Given the description of an element on the screen output the (x, y) to click on. 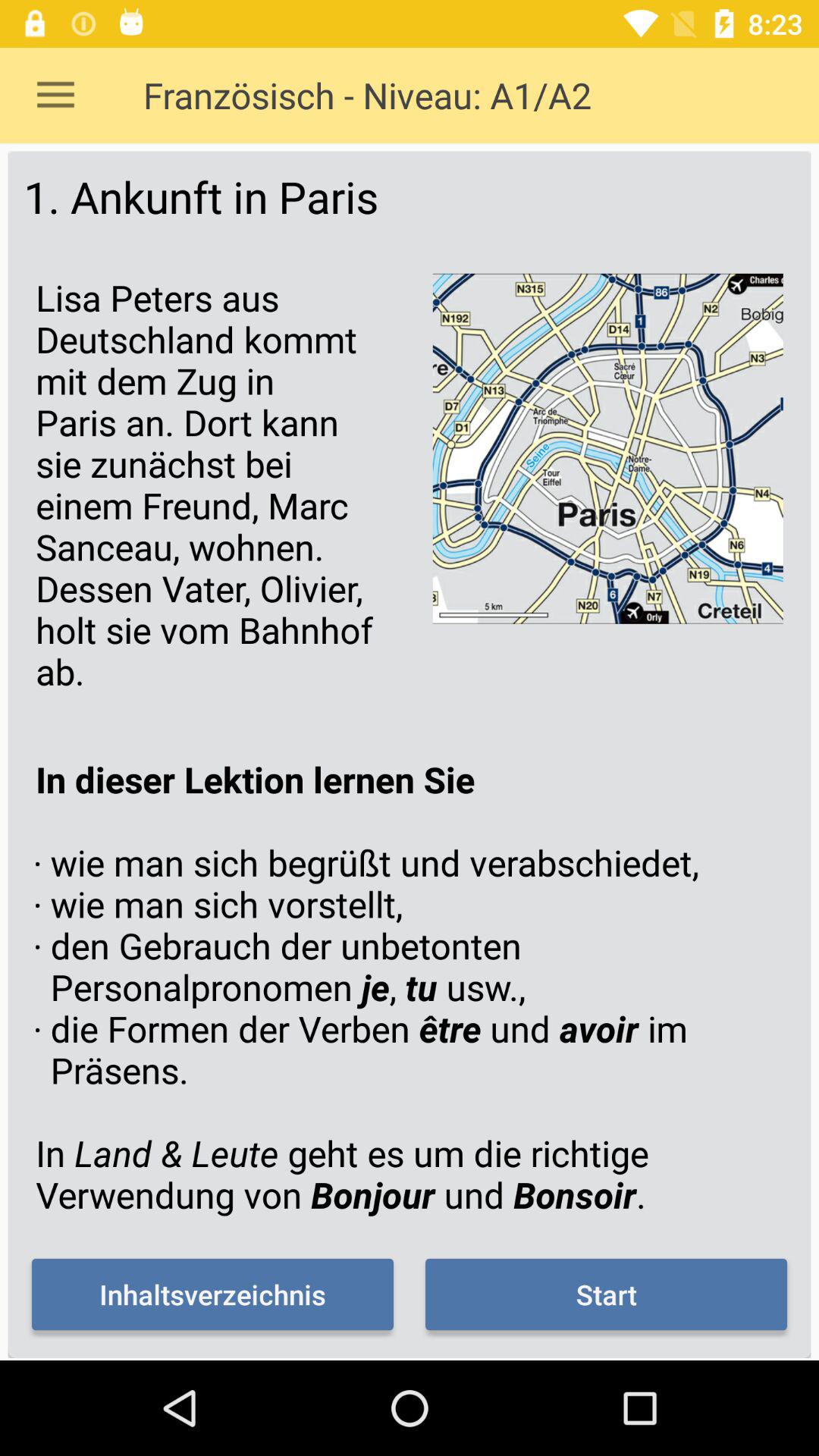
jump until the start item (606, 1294)
